Given the description of an element on the screen output the (x, y) to click on. 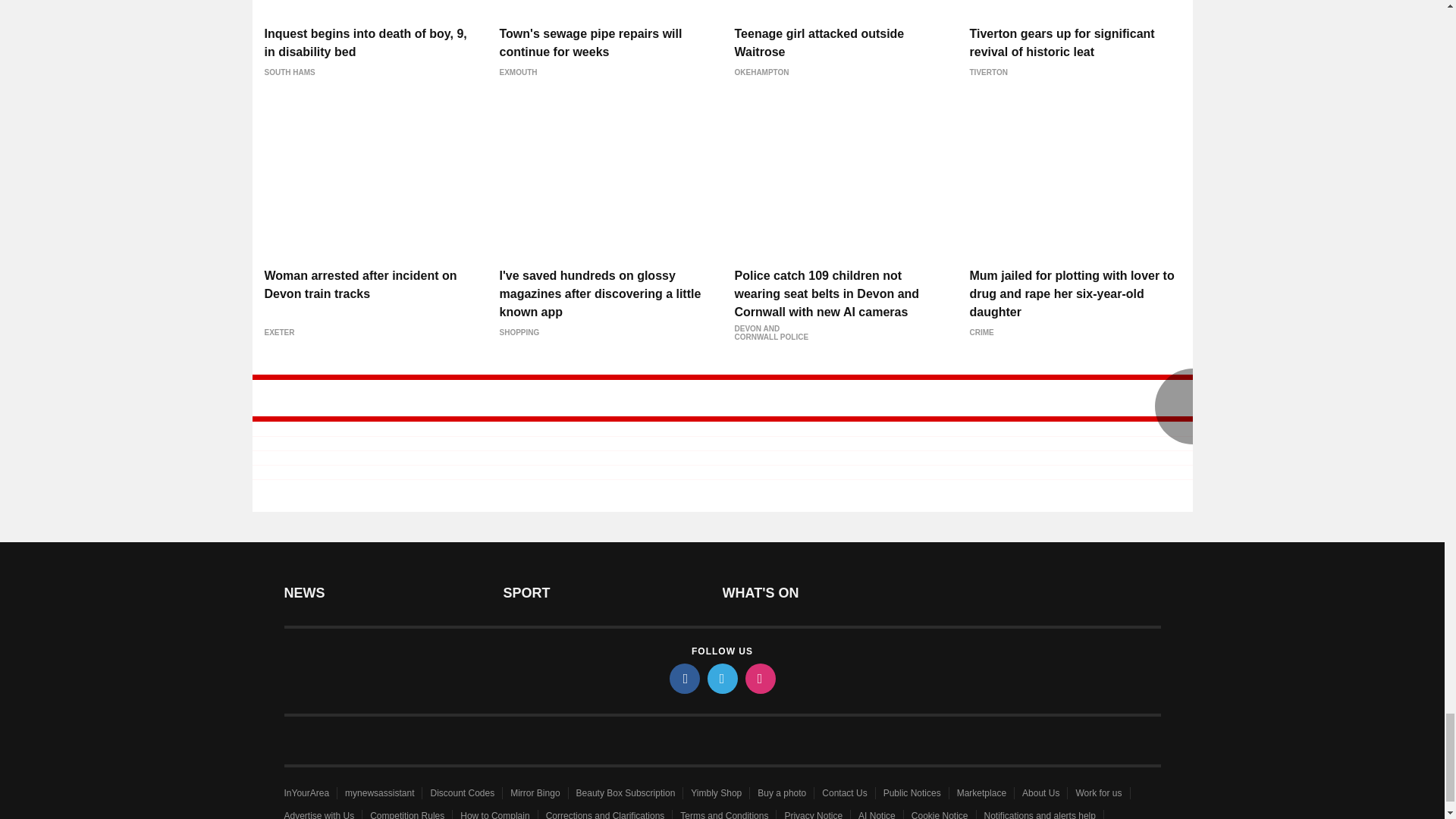
instagram (759, 678)
twitter (721, 678)
facebook (683, 678)
